Given the description of an element on the screen output the (x, y) to click on. 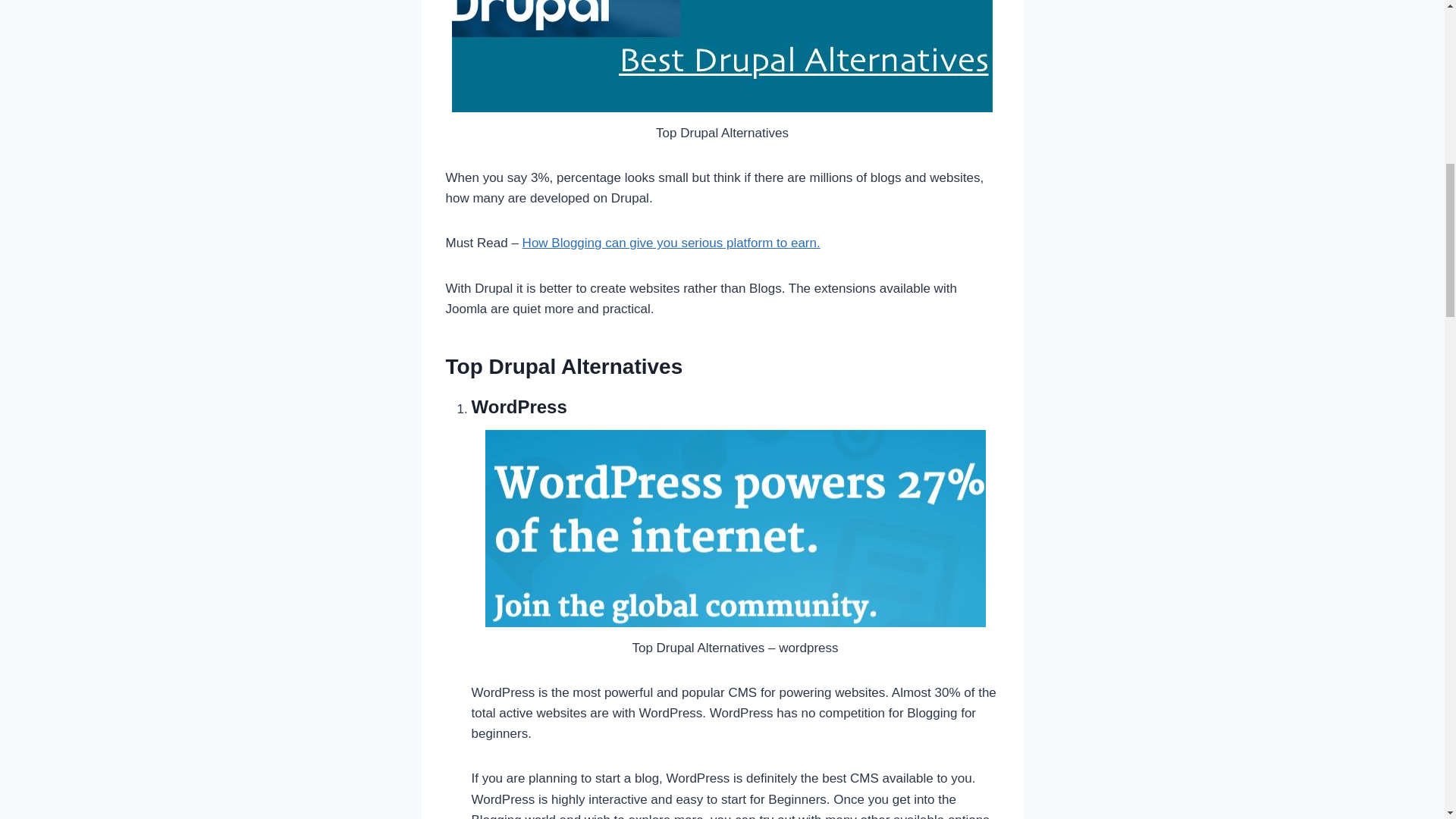
How Blogging can give you serious platform to earn. (671, 242)
